Given the description of an element on the screen output the (x, y) to click on. 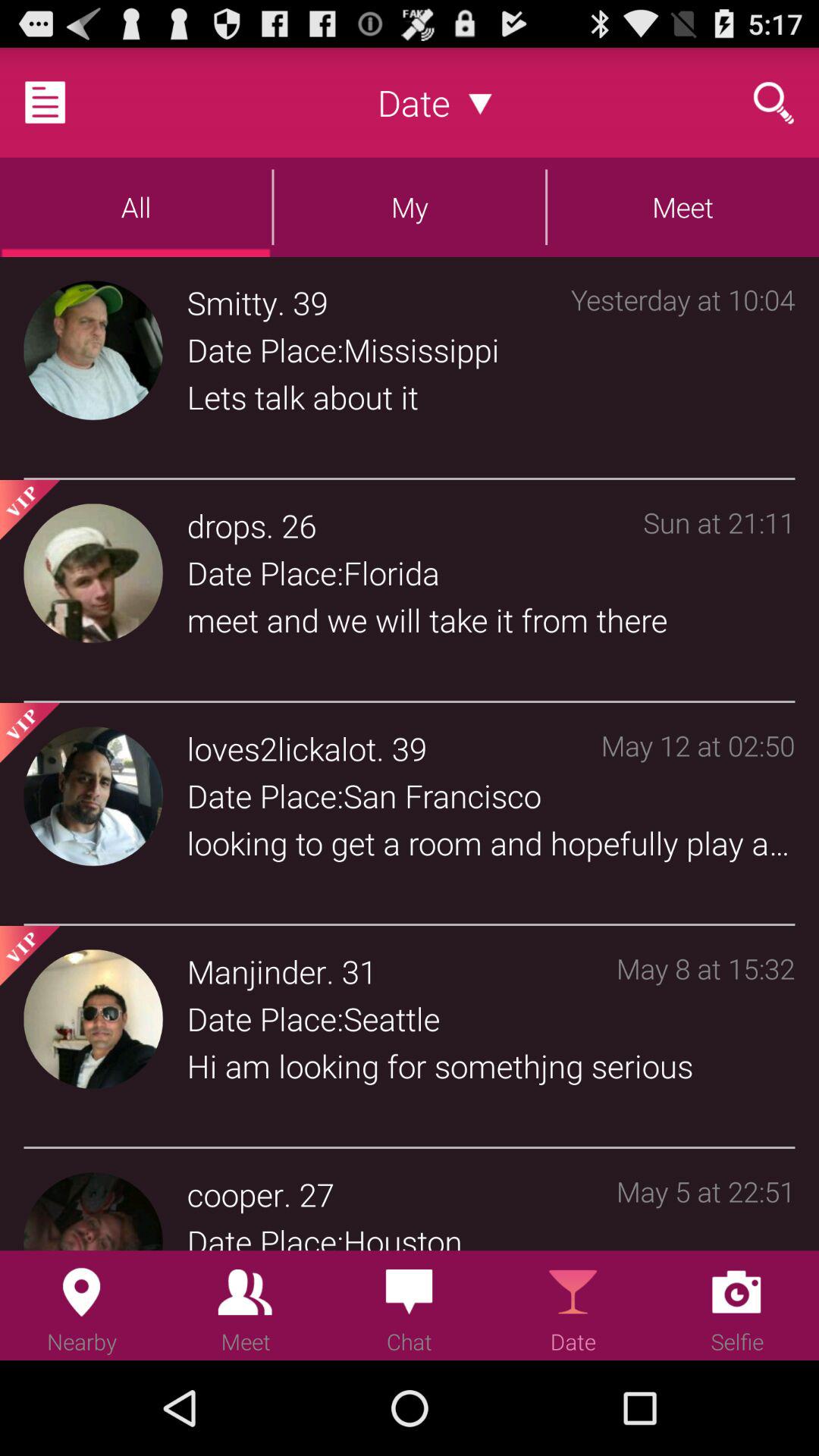
press lets talk about app (491, 396)
